Given the description of an element on the screen output the (x, y) to click on. 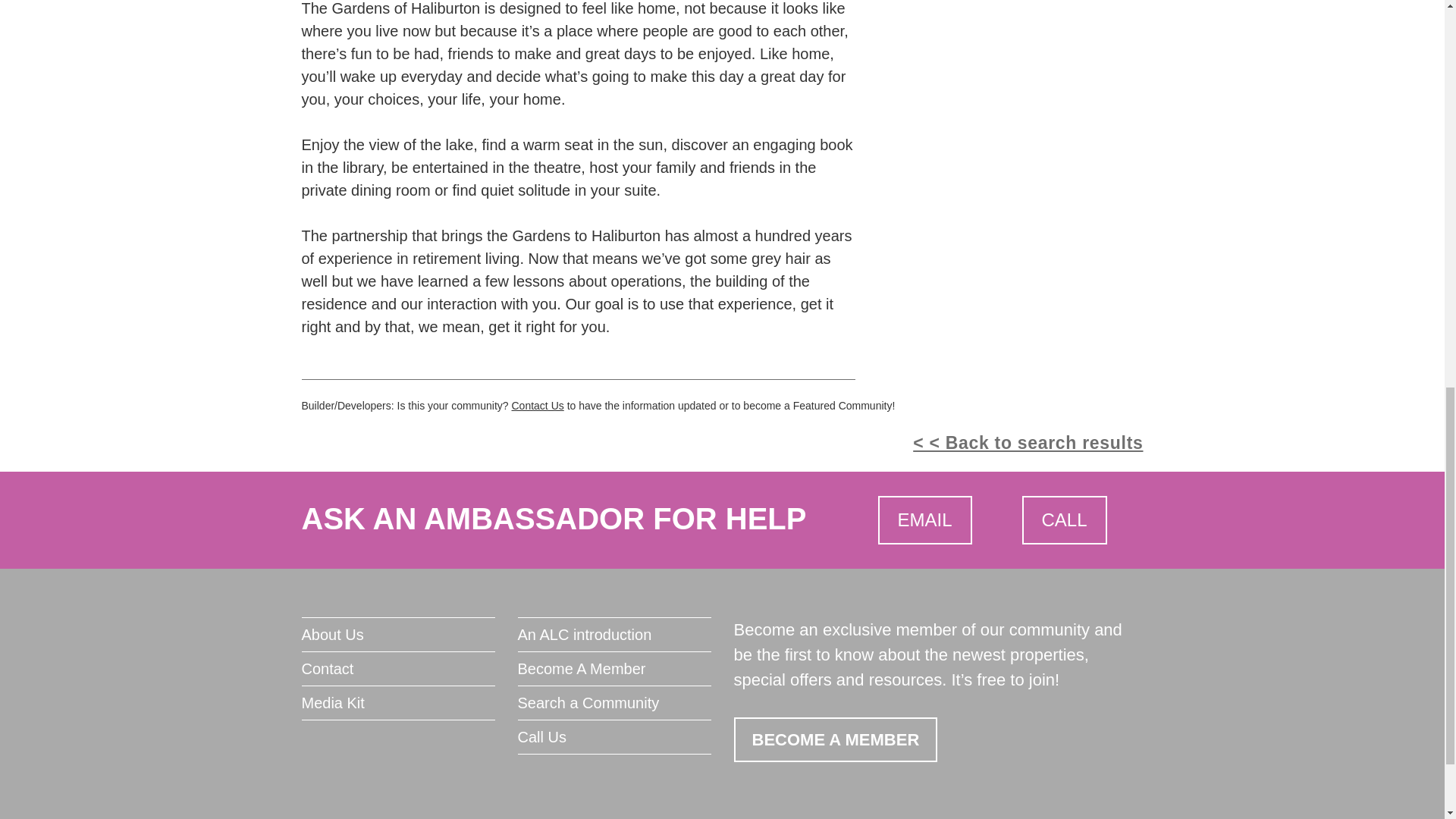
Contact (398, 668)
An ALC introduction (613, 634)
Search a Community (613, 702)
Contact Us (537, 405)
About Us (398, 634)
EMAIL (924, 520)
CALL (1064, 520)
Media Kit (398, 702)
Become A Member (613, 668)
